Given the description of an element on the screen output the (x, y) to click on. 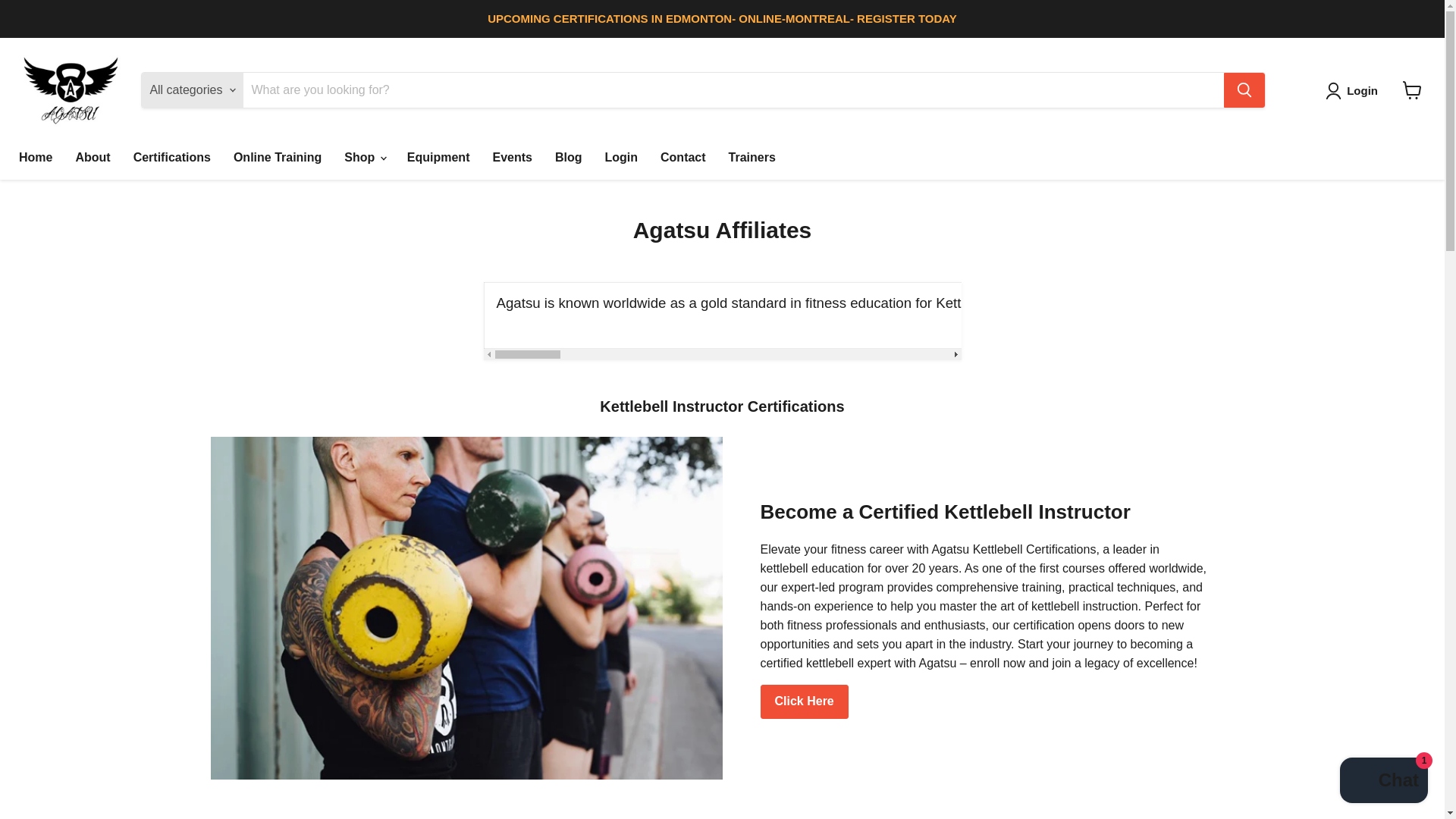
Login (1354, 90)
View cart (1411, 90)
Home (35, 157)
About (92, 157)
Certifications (172, 157)
Contact (683, 157)
Login (620, 157)
Events (511, 157)
Online Training (277, 157)
Shopify online store chat (1383, 781)
Equipment (438, 157)
Blog (568, 157)
Trainers (752, 157)
